Given the description of an element on the screen output the (x, y) to click on. 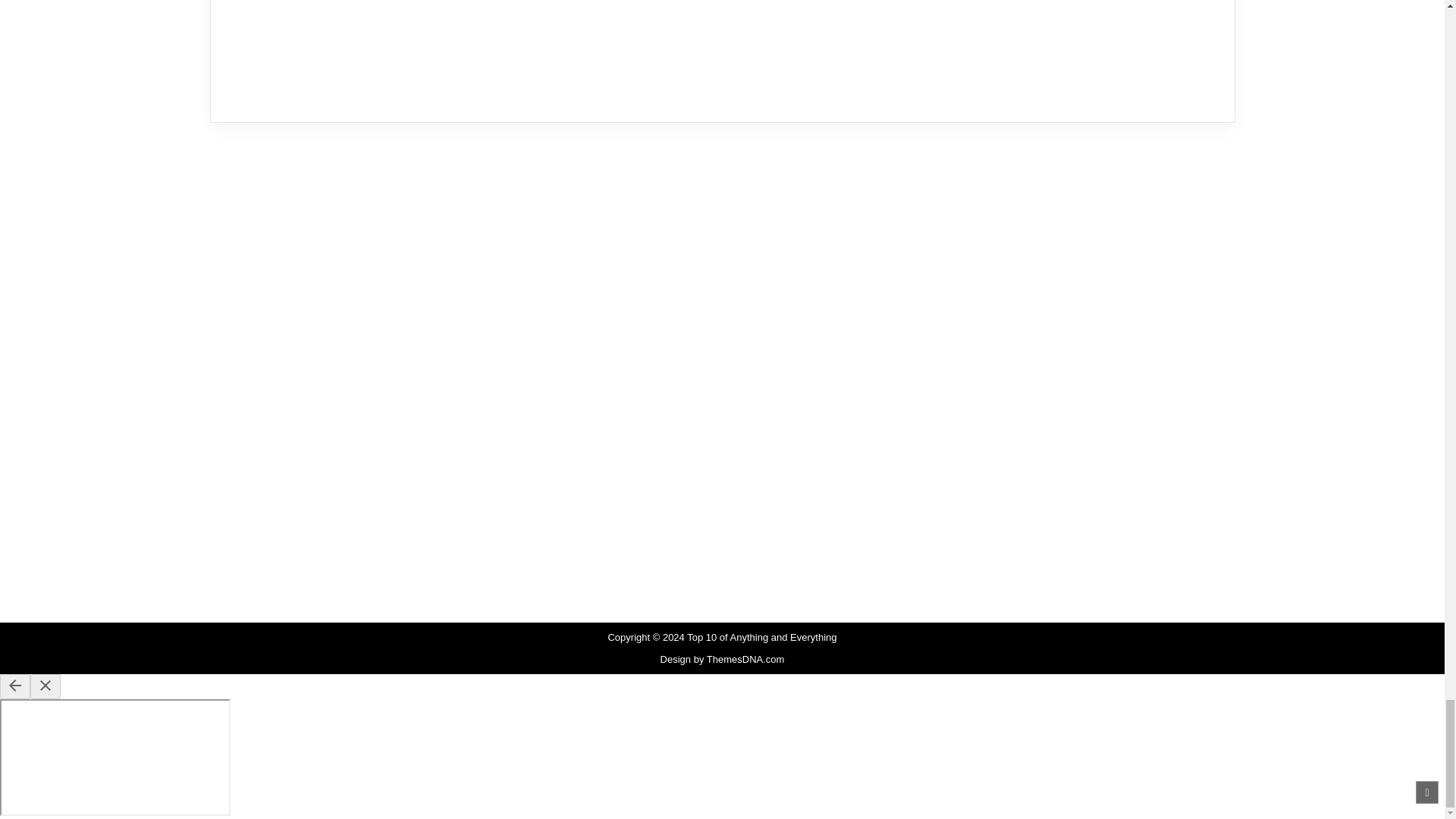
Design by ThemesDNA.com (722, 659)
